Given the description of an element on the screen output the (x, y) to click on. 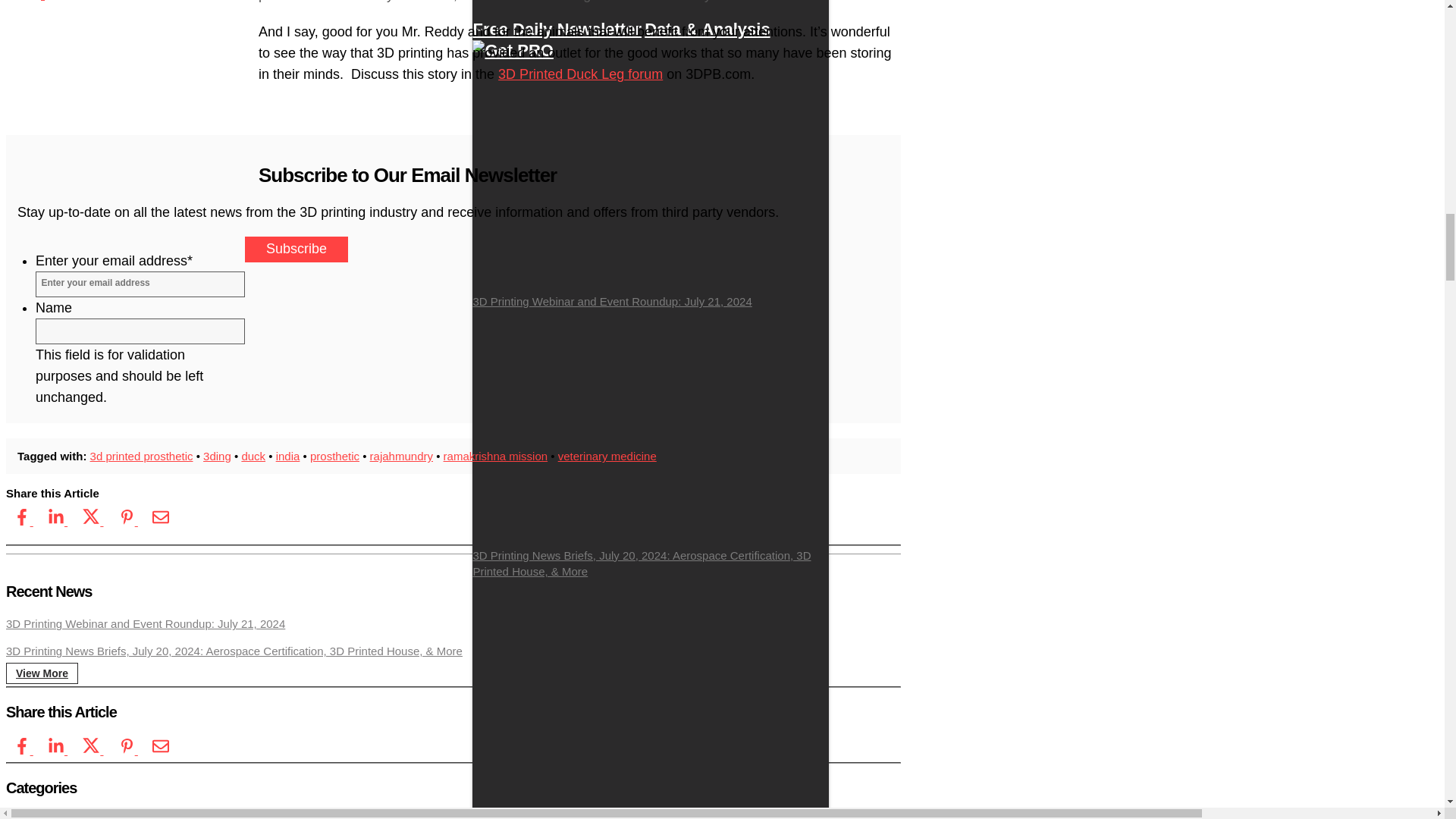
Subscribe (295, 249)
